Given the description of an element on the screen output the (x, y) to click on. 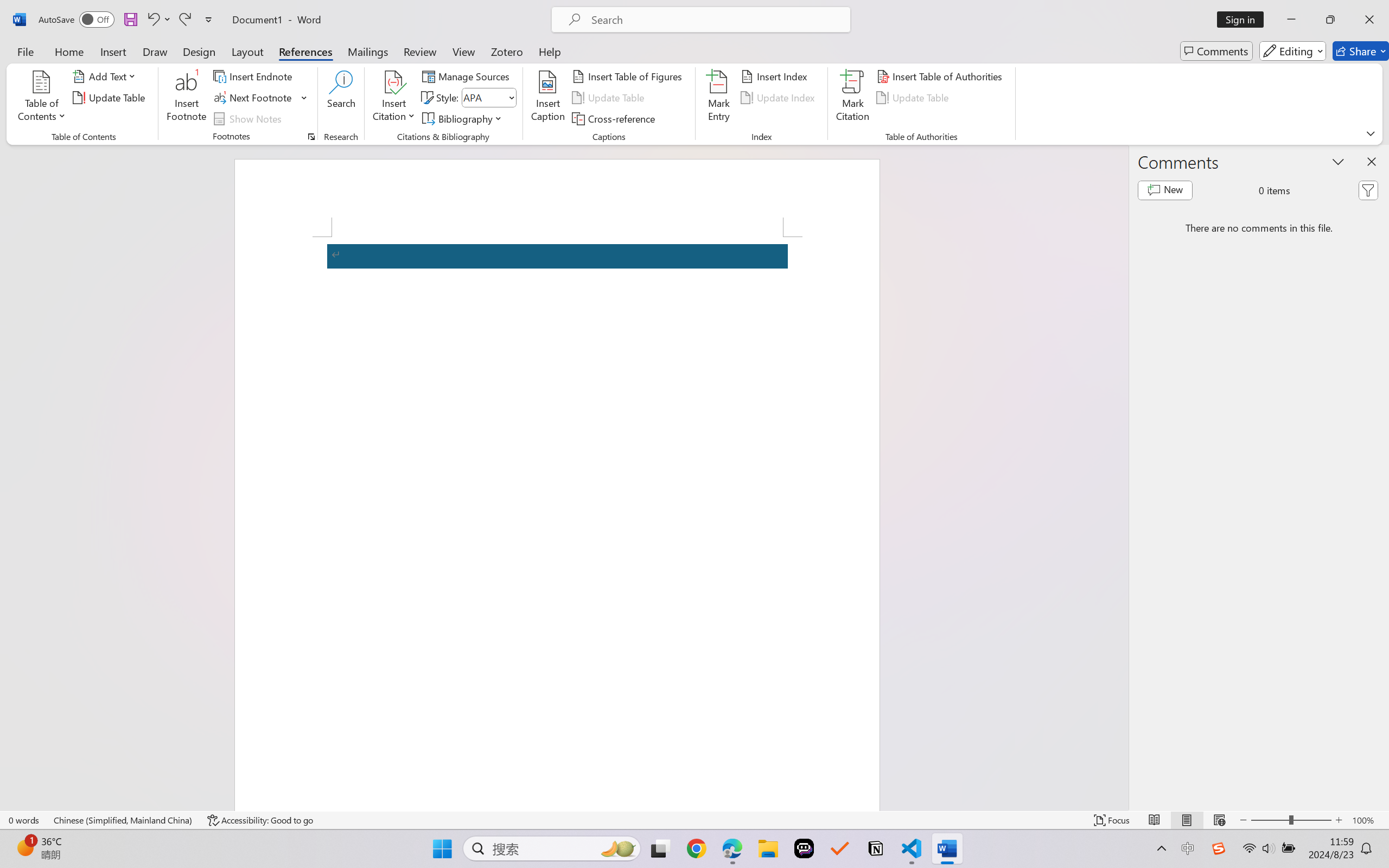
Redo Apply Quick Style (184, 19)
Mark Citation... (852, 97)
Update Index (778, 97)
Insert Table of Figures... (628, 75)
Filter (1367, 190)
Table of Contents (42, 97)
Next Footnote (260, 97)
Style (488, 97)
Show Notes (248, 118)
